Given the description of an element on the screen output the (x, y) to click on. 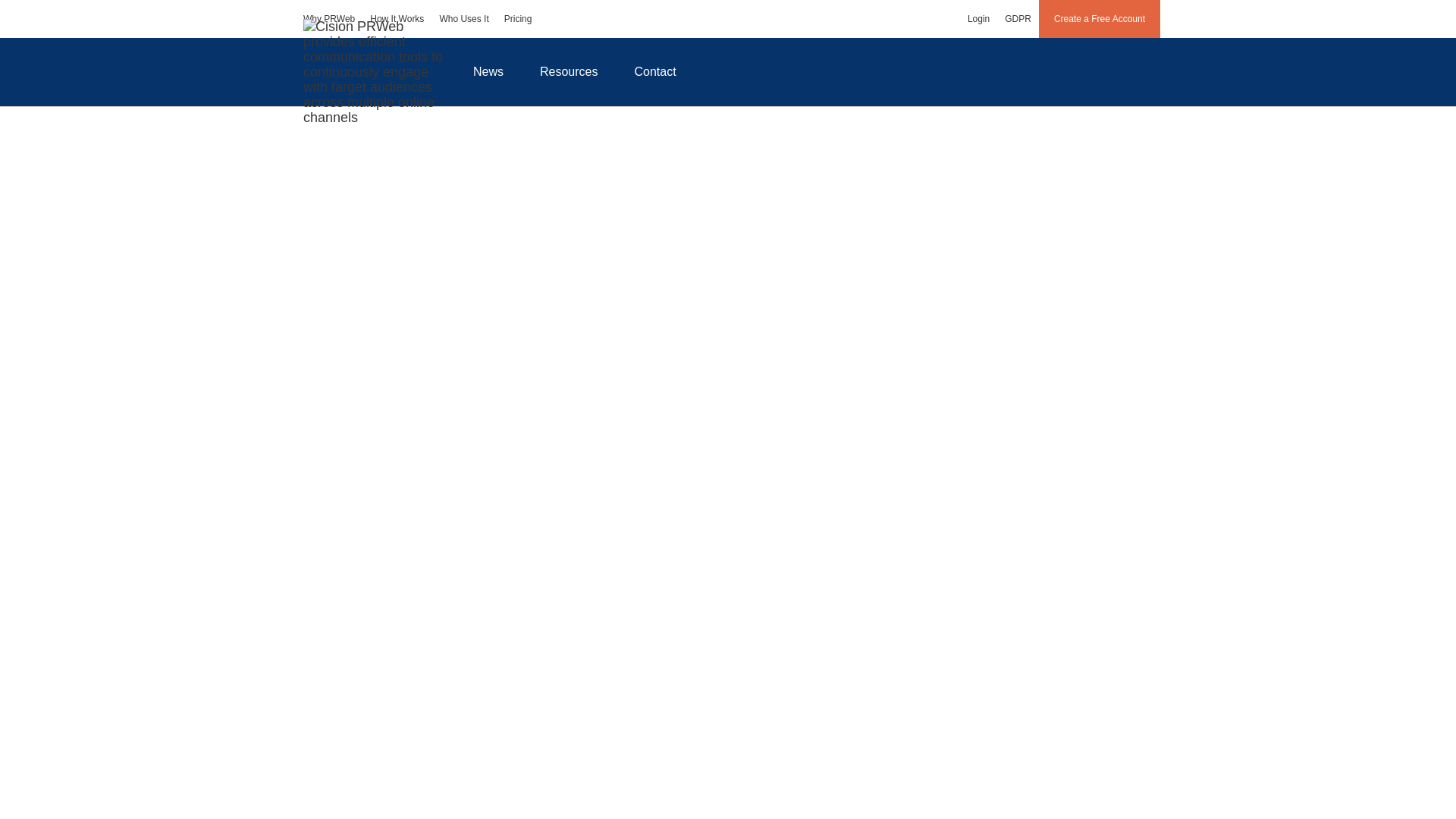
Why PRWeb (328, 18)
Who Uses It (463, 18)
Resources (568, 71)
Pricing (518, 18)
Login (978, 18)
How It Works (396, 18)
Create a Free Account (1099, 18)
Contact (654, 71)
GDPR (1018, 18)
News (487, 71)
